Given the description of an element on the screen output the (x, y) to click on. 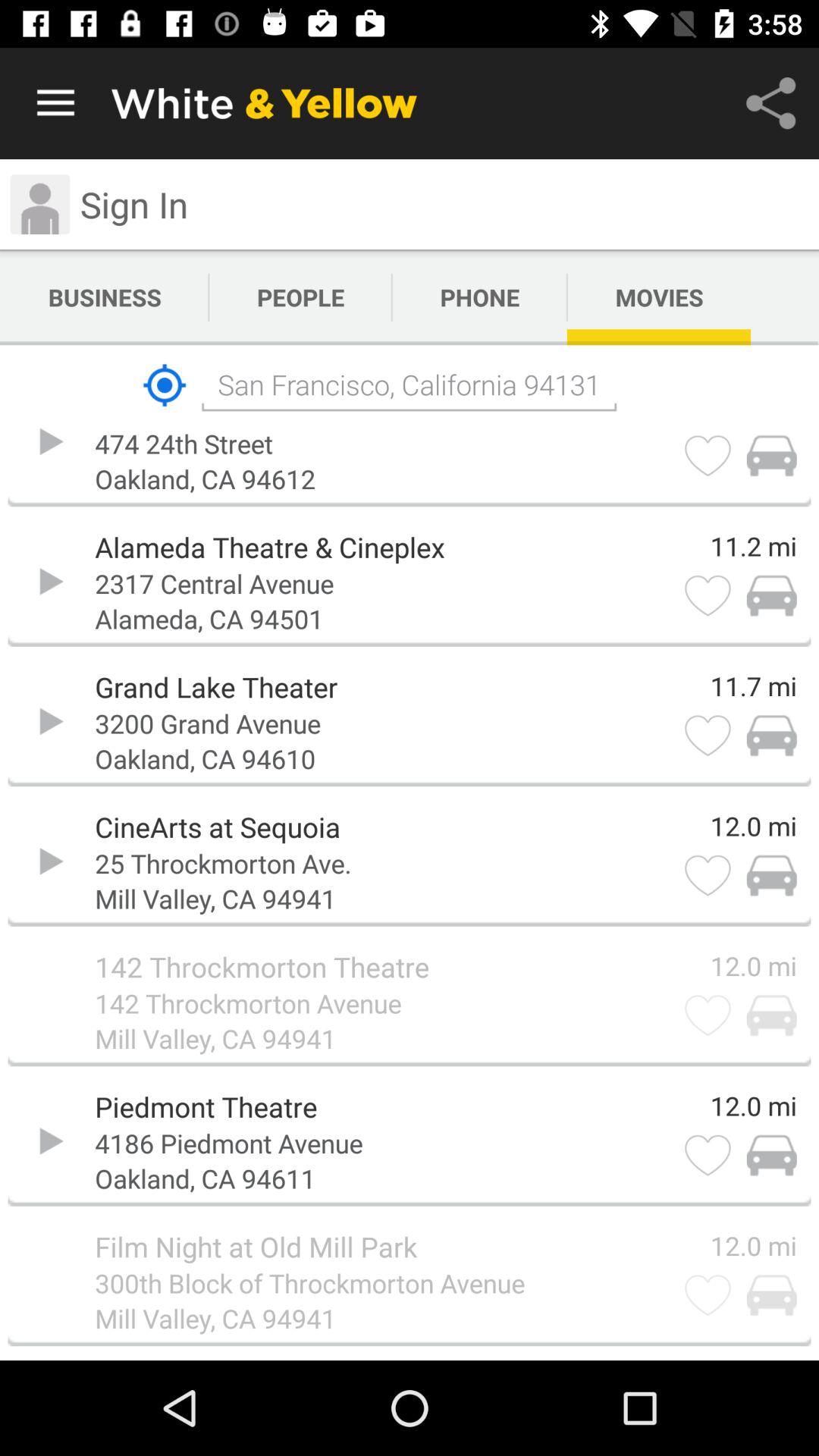
open the icon next to people item (479, 297)
